Given the description of an element on the screen output the (x, y) to click on. 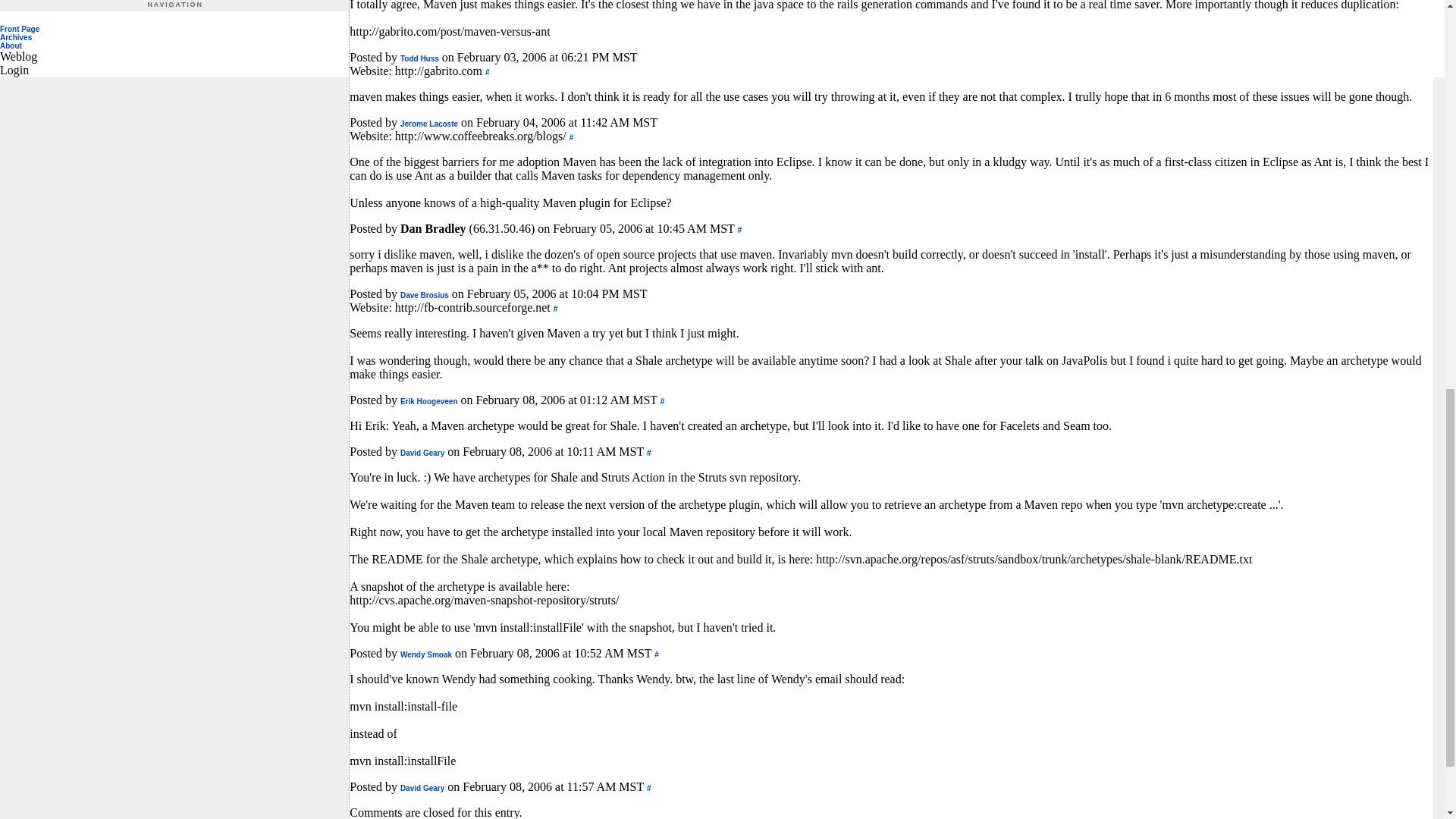
Dave Brosius (424, 295)
David Geary (422, 787)
Jerome Lacoste (429, 123)
194.247.106.2 (429, 401)
69.109.185.187 (419, 58)
Todd Huss (419, 58)
71.208.245.77 (422, 787)
209.147.173.40 (425, 654)
David Geary (422, 452)
38.118.53.165 (424, 295)
